Given the description of an element on the screen output the (x, y) to click on. 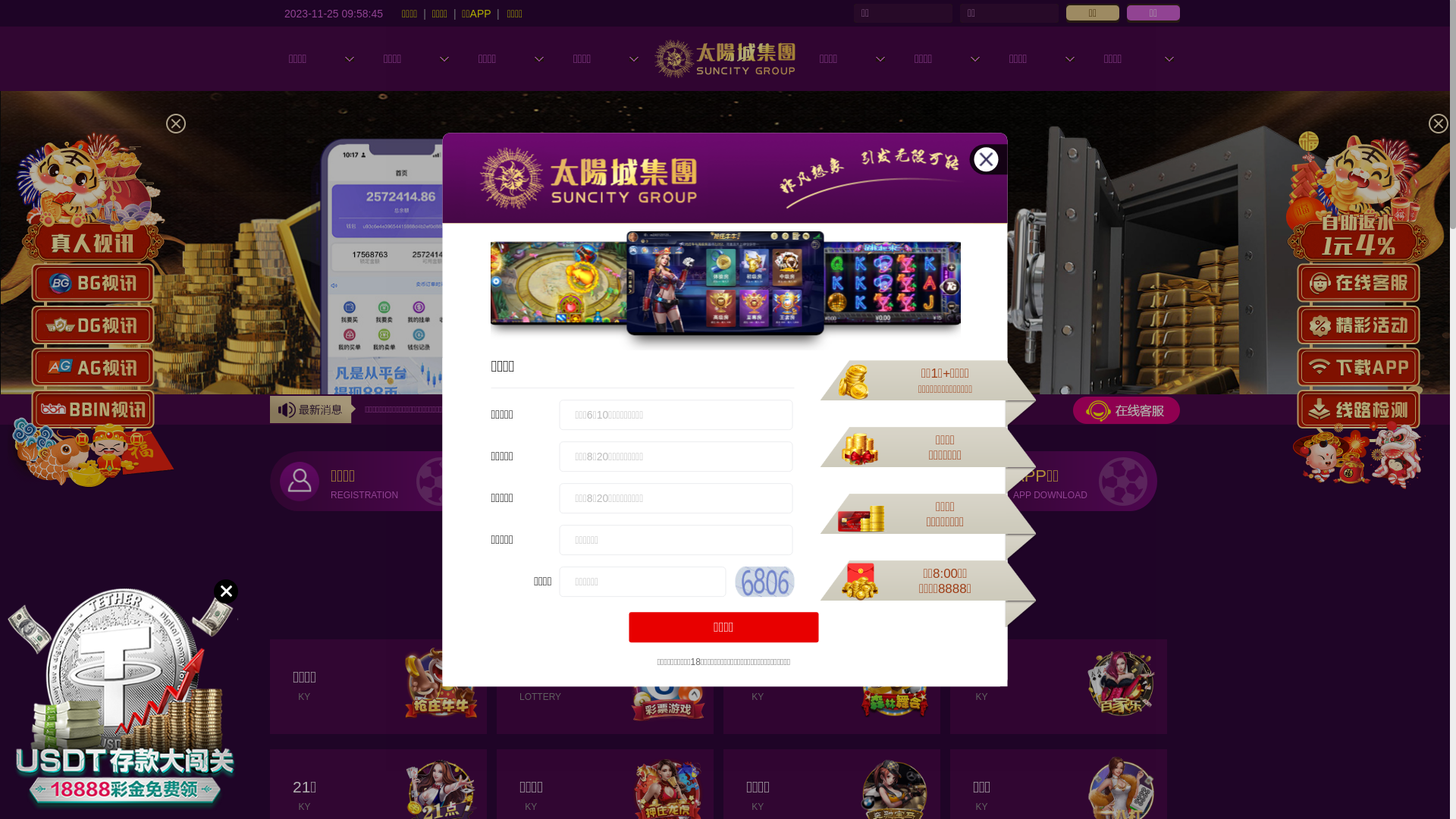
2023-11-25 09:58:43 Element type: text (333, 12)
